Given the description of an element on the screen output the (x, y) to click on. 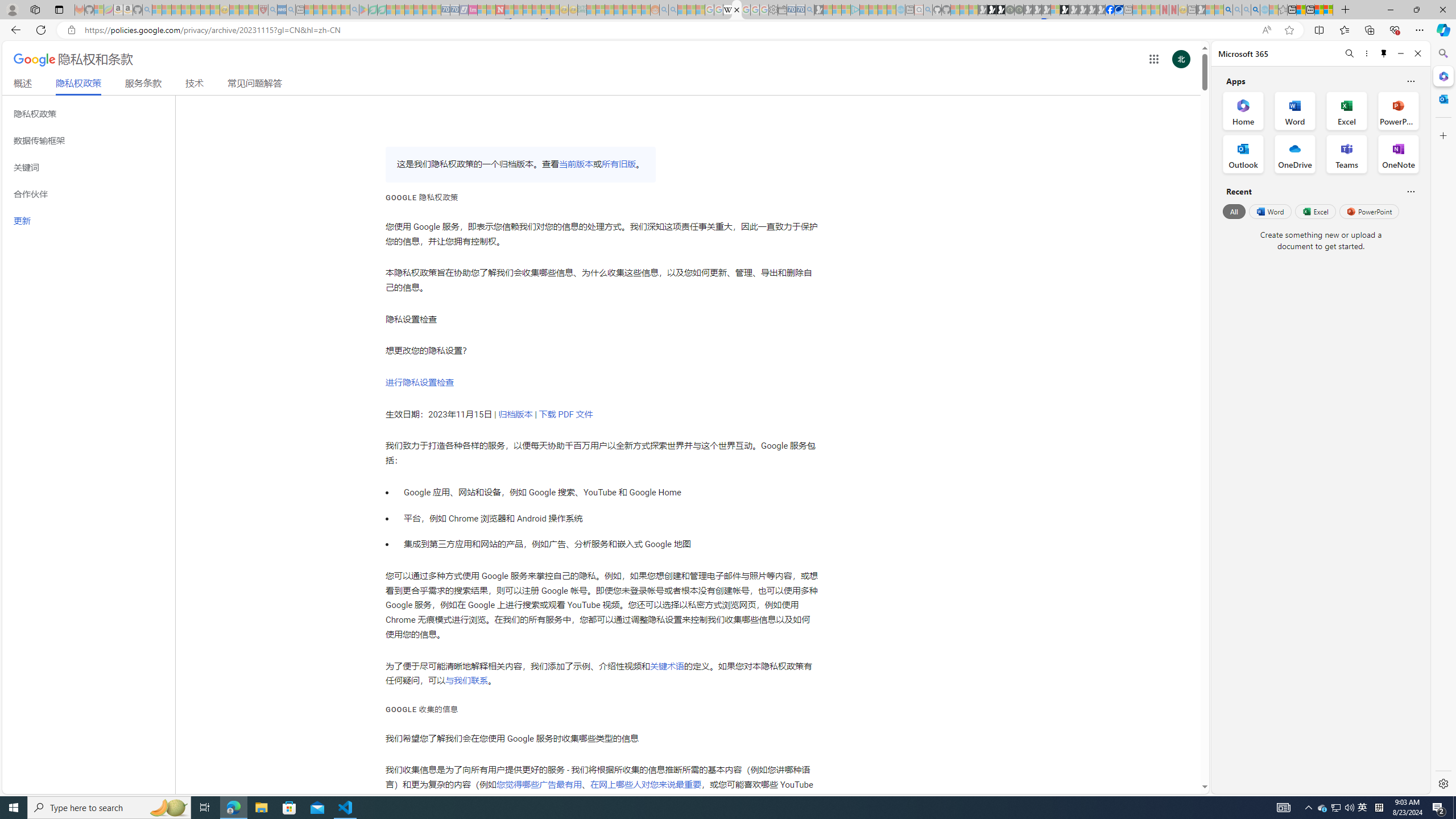
Home Office App (1243, 110)
Word Office App (1295, 110)
Class: gb_E (1153, 59)
Close Microsoft 365 pane (1442, 76)
